Given the description of an element on the screen output the (x, y) to click on. 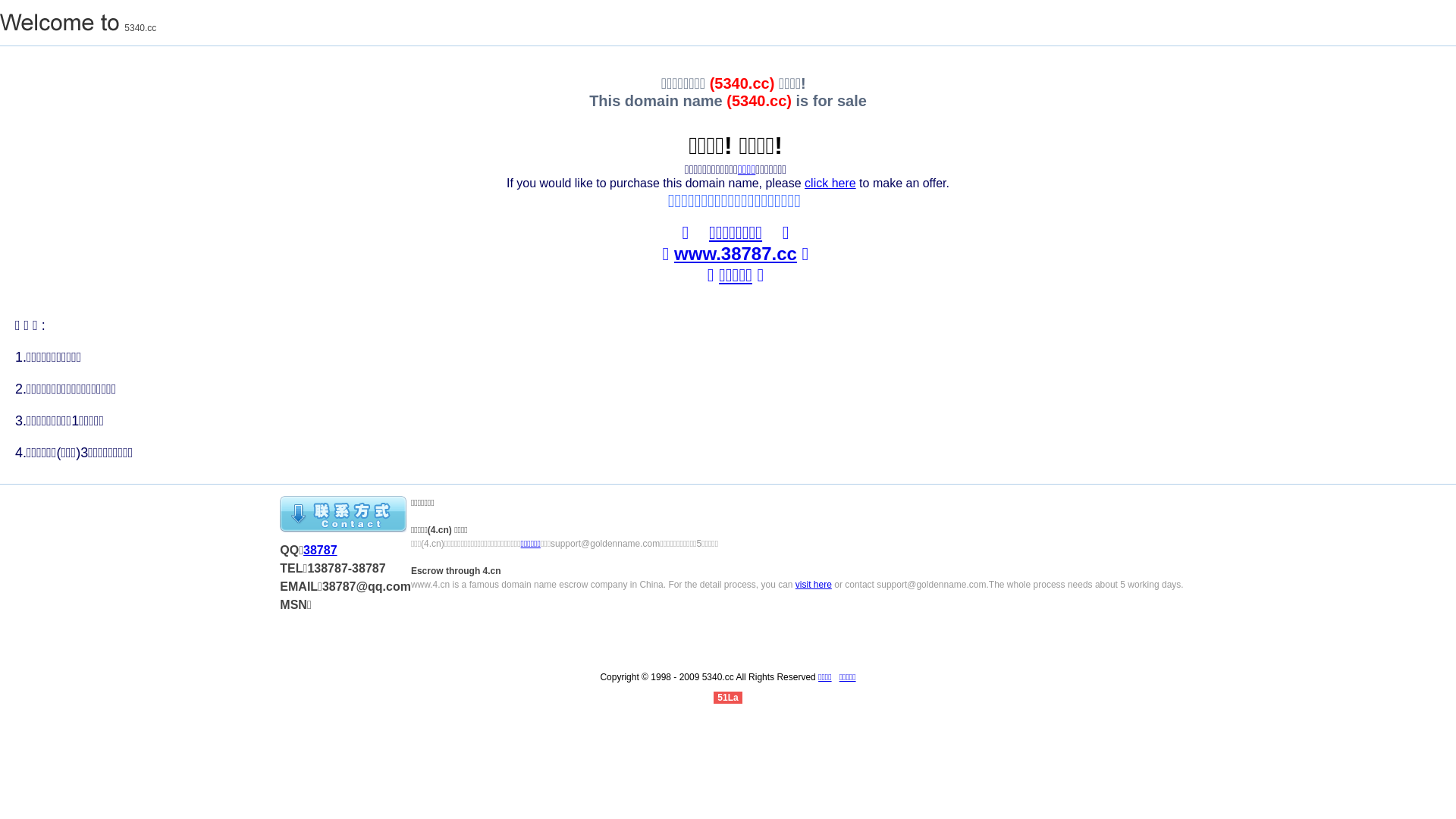
visit here Element type: text (813, 584)
38787 Element type: text (320, 549)
51La Element type: text (727, 697)
www.38787.cc Element type: text (735, 253)
click here Element type: text (830, 183)
